Given the description of an element on the screen output the (x, y) to click on. 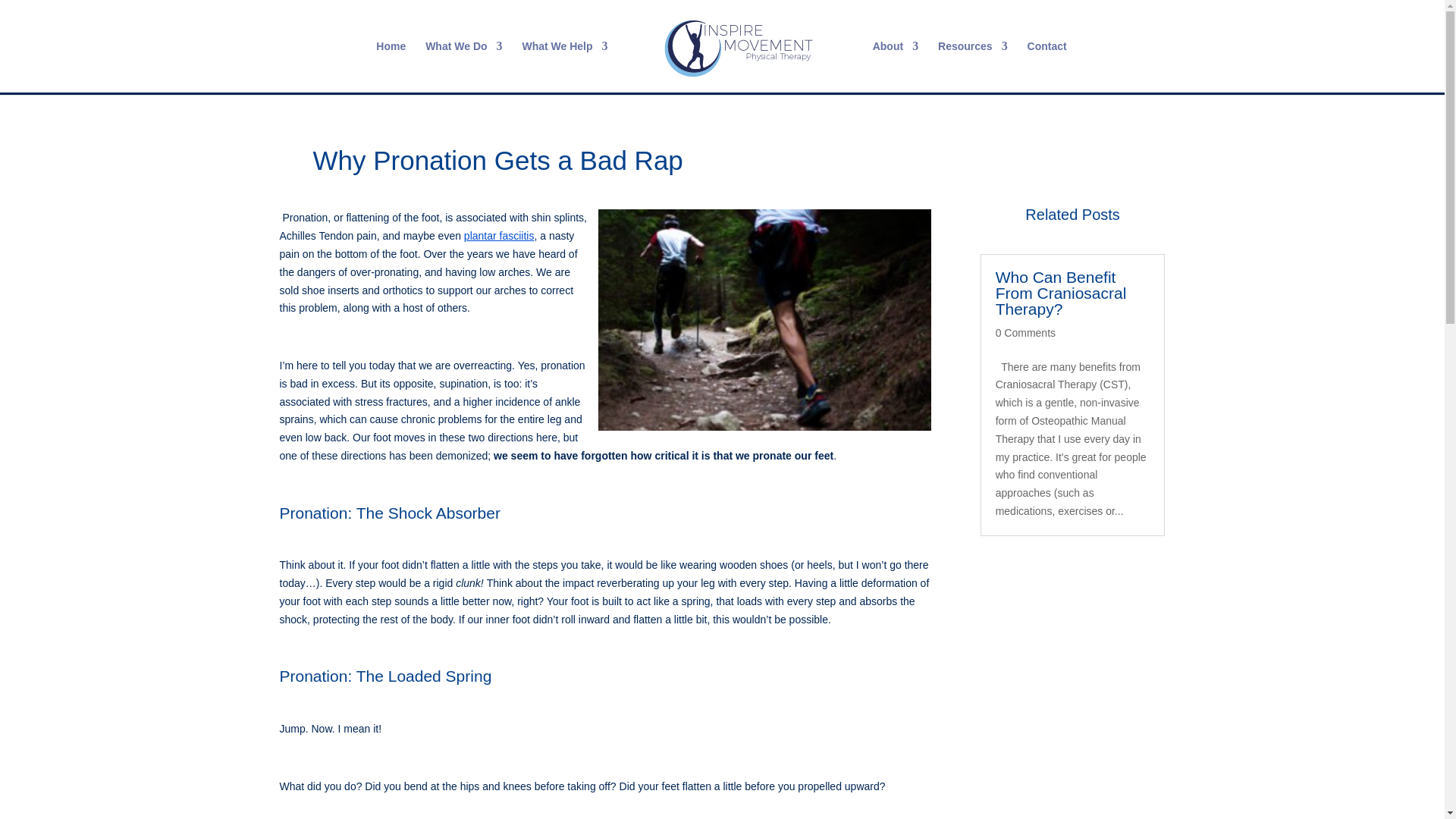
Resources (972, 66)
What We Do (463, 66)
What We Help (564, 66)
